Given the description of an element on the screen output the (x, y) to click on. 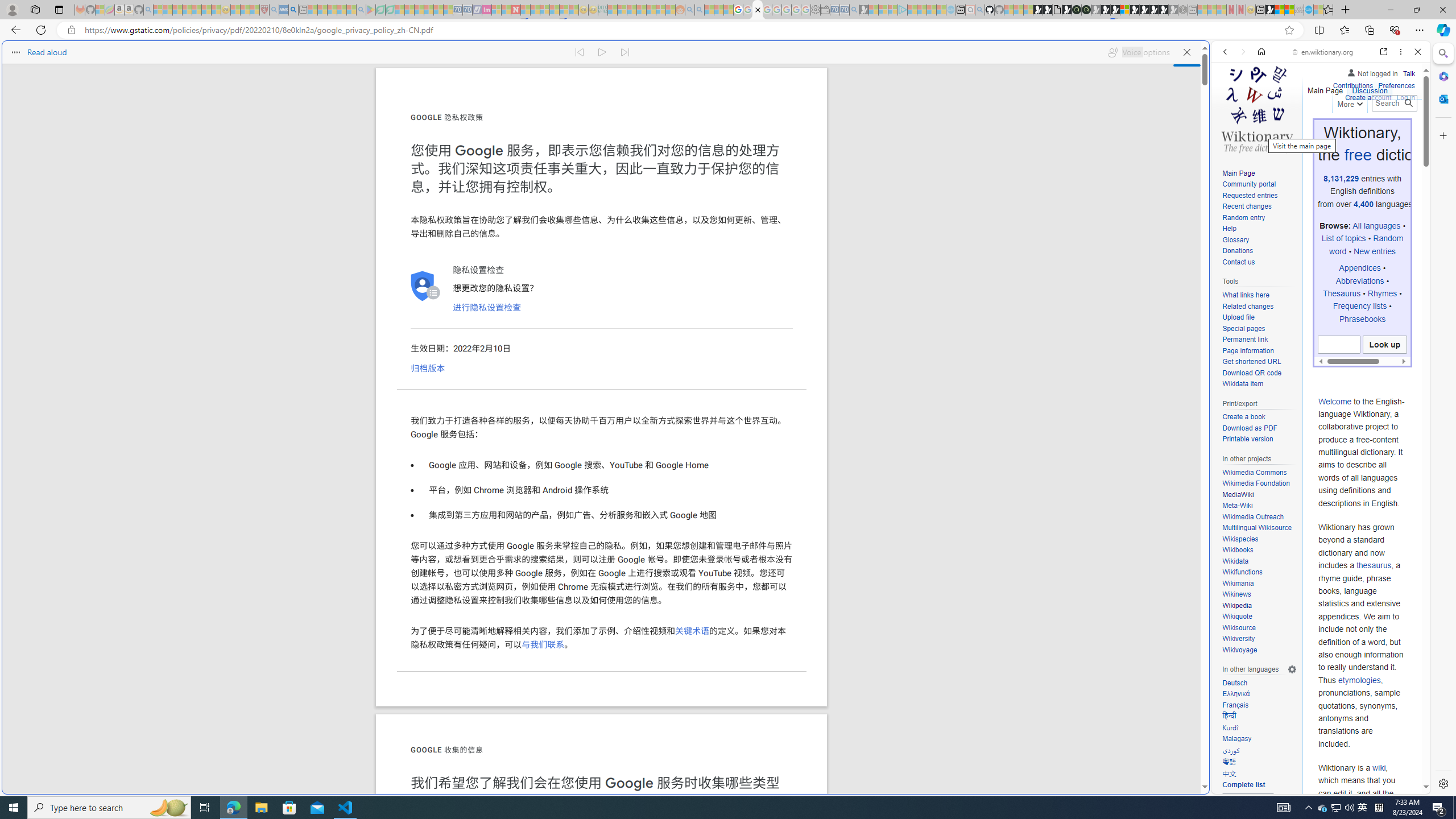
Appendices (1359, 267)
Tabs you've opened (885, 151)
free (1357, 154)
Glossary (1259, 240)
Wikimedia Foundation (1255, 483)
